Given the description of an element on the screen output the (x, y) to click on. 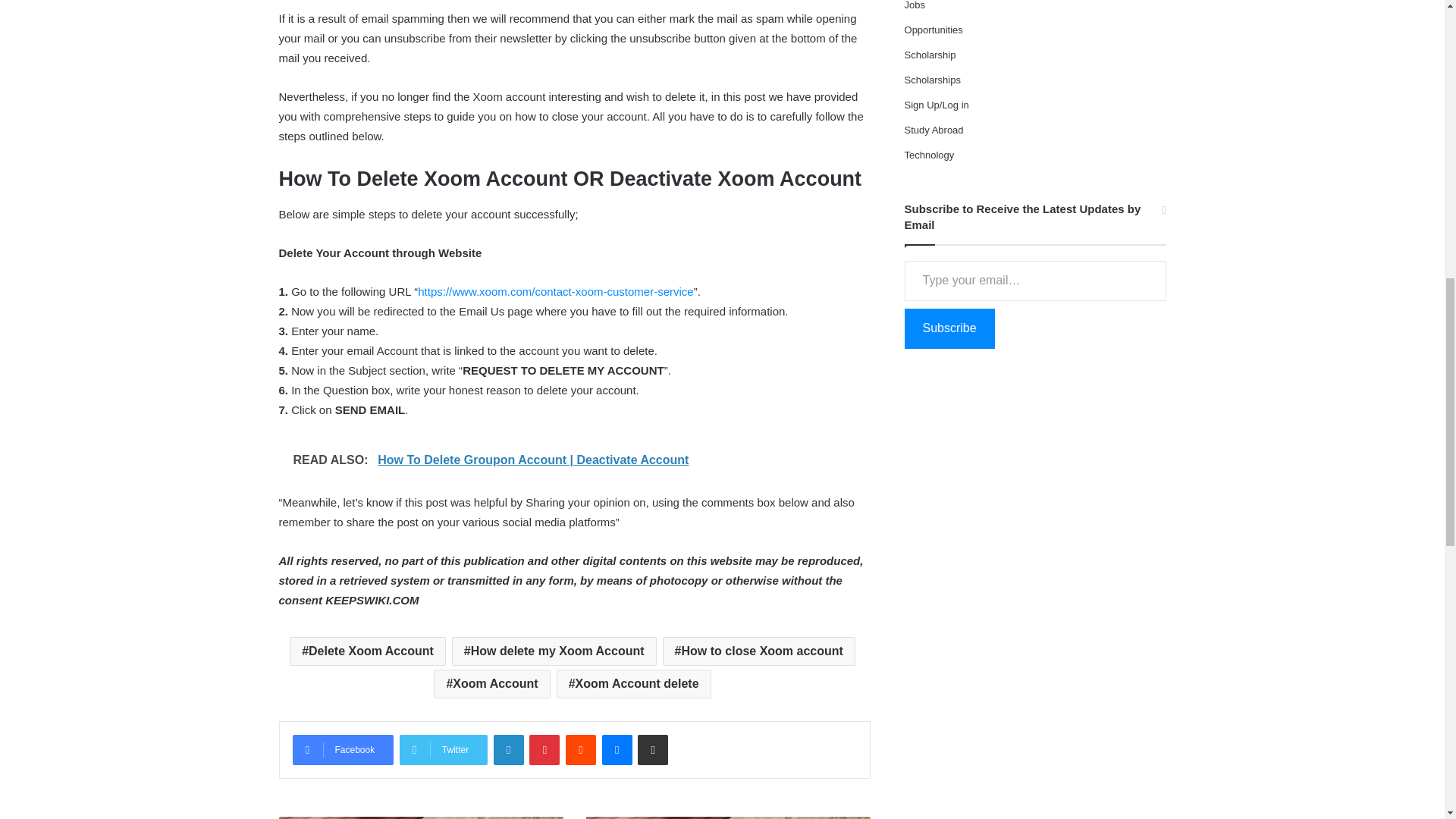
LinkedIn (508, 749)
Twitter (442, 749)
Facebook (343, 749)
Pinterest (544, 749)
Xoom Account delete (633, 683)
Messenger (616, 749)
How delete my Xoom Account (553, 651)
Share via Email (652, 749)
Twitter (442, 749)
Messenger (616, 749)
Delete Xoom Account (367, 651)
How to close Xoom account (759, 651)
LinkedIn (508, 749)
Pinterest (544, 749)
Reddit (580, 749)
